Given the description of an element on the screen output the (x, y) to click on. 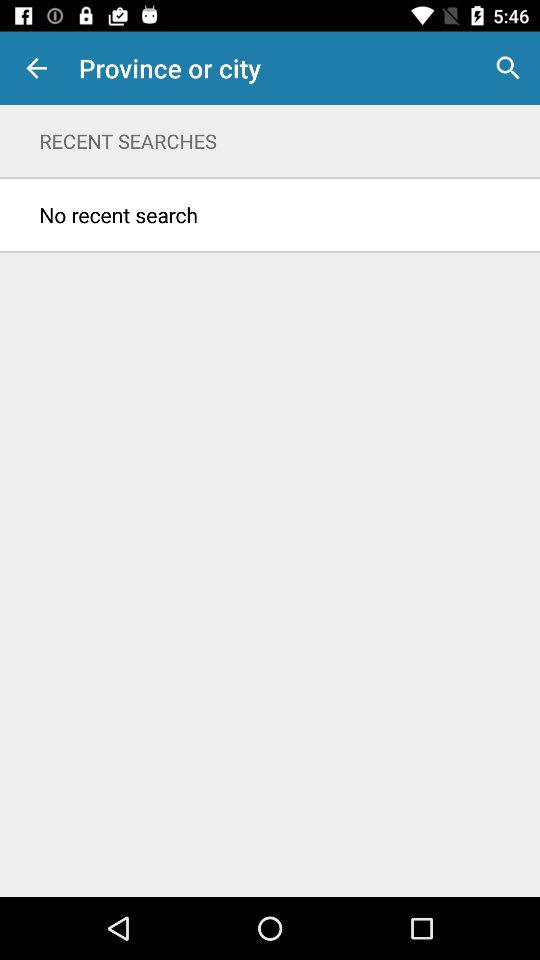
open app to the left of province or city item (36, 68)
